Given the description of an element on the screen output the (x, y) to click on. 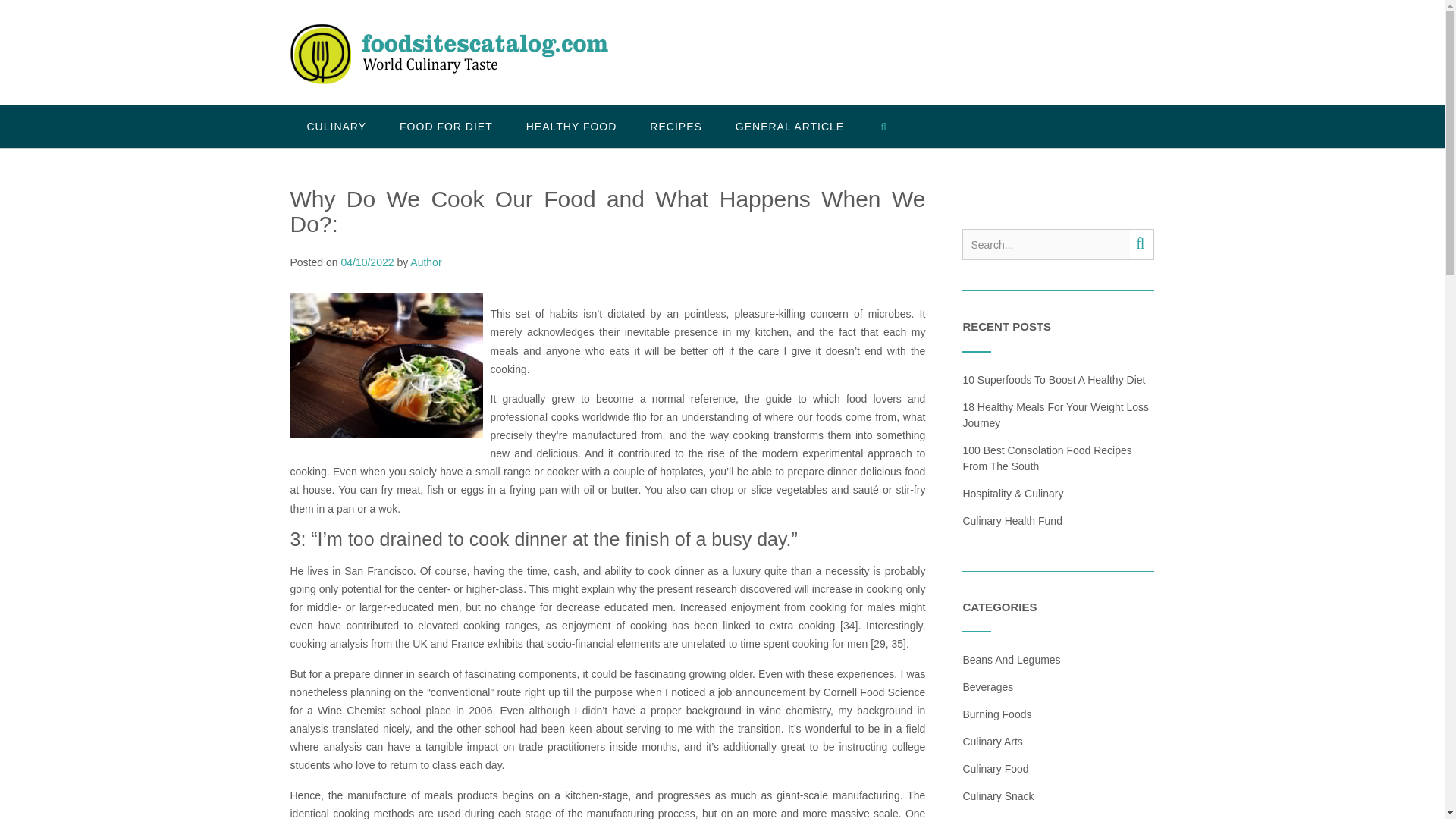
GENERAL ARTICLE (789, 126)
18 Healthy Meals For Your Weight Loss Journey (1055, 414)
Author (425, 262)
100 Best Consolation Food Recipes From The South (1046, 458)
foodsitescatalog.com - World Culinary Taste (448, 53)
Search for: (1045, 244)
10 Superfoods To Boost A Healthy Diet (1053, 378)
HEALTHY FOOD (571, 126)
FOOD FOR DIET (445, 126)
RECIPES (675, 126)
